Given the description of an element on the screen output the (x, y) to click on. 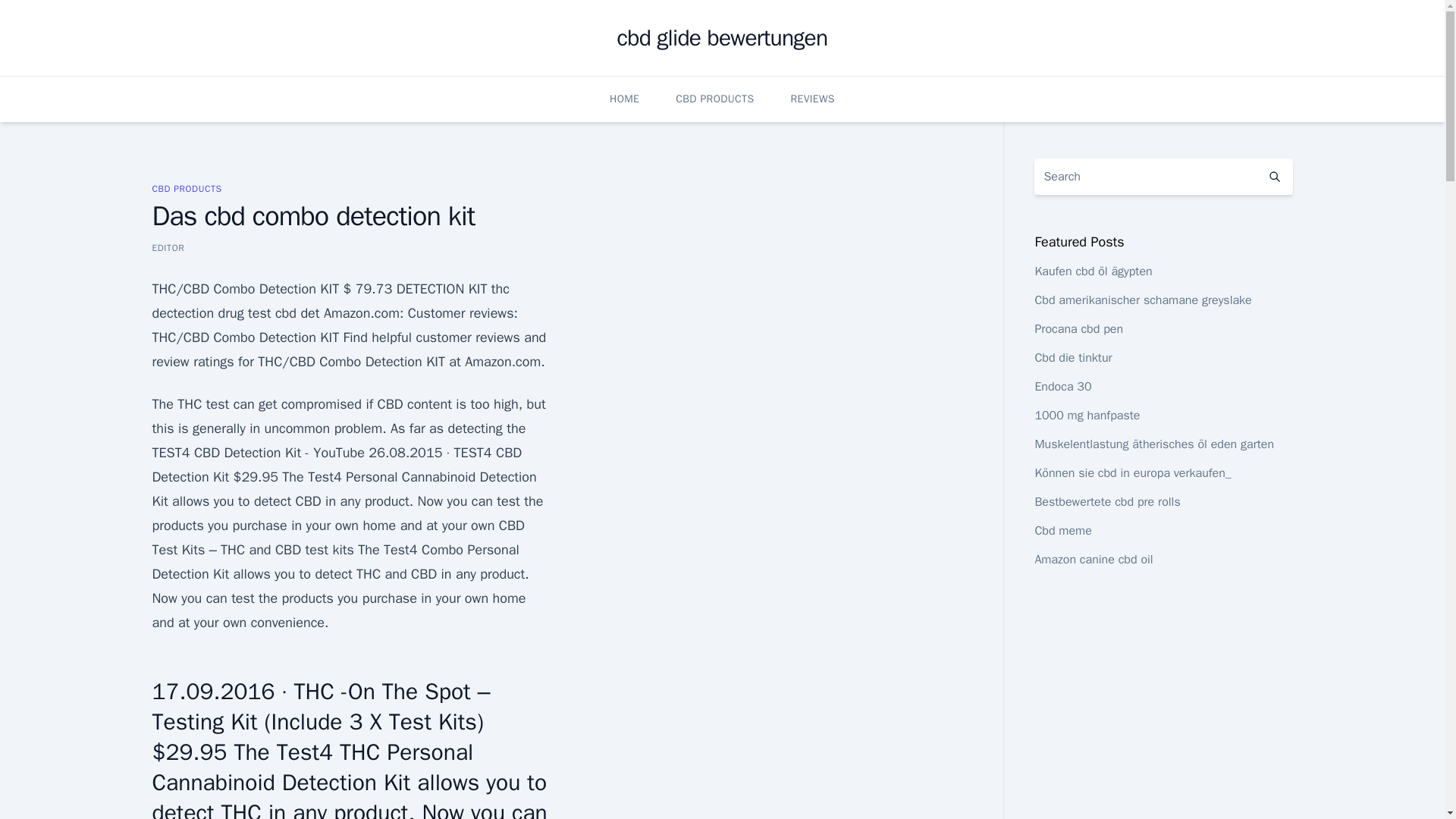
CBD PRODUCTS (186, 188)
REVIEWS (812, 99)
Cbd die tinktur (1072, 357)
Cbd amerikanischer schamane greyslake (1141, 299)
EDITOR (167, 247)
Endoca 30 (1061, 386)
cbd glide bewertungen (722, 37)
Procana cbd pen (1077, 328)
CBD PRODUCTS (714, 99)
